Given the description of an element on the screen output the (x, y) to click on. 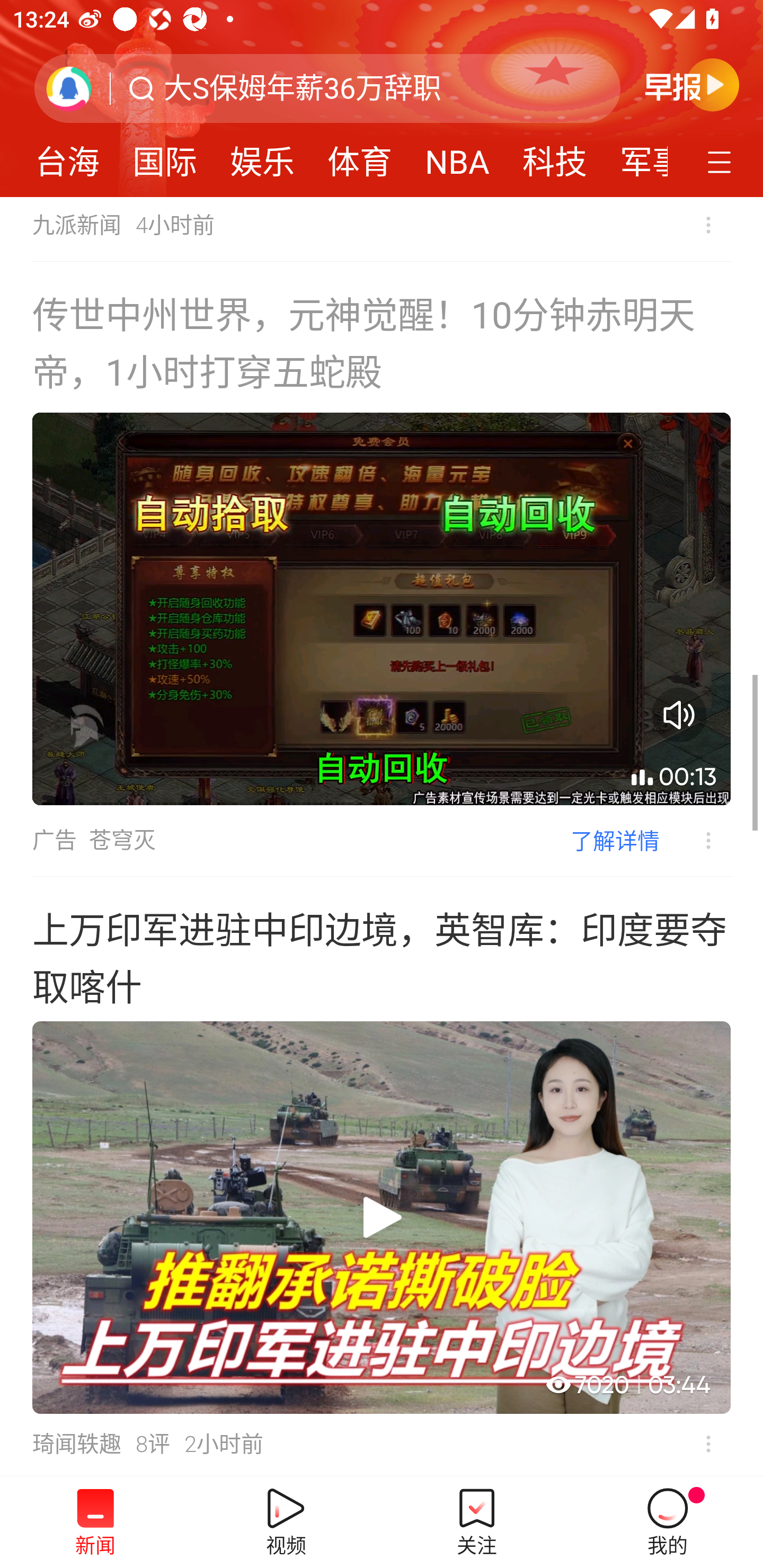
早晚报 (691, 84)
刷新 (68, 88)
大S保姆年薪36万辞职 (302, 88)
台海 (66, 155)
国际 (164, 155)
娱乐 (262, 155)
体育 (359, 155)
NBA (456, 155)
科技 (554, 155)
 定制频道 (721, 160)
九派新闻 4小时前  不感兴趣 (381, 229)
 不感兴趣 (707, 224)
00:13 音量开关 (381, 608)
音量开关 (678, 714)
 不感兴趣 (694, 840)
了解详情 (614, 840)
广告 (54, 839)
苍穹灭 (122, 839)
 不感兴趣 (707, 1444)
